Given the description of an element on the screen output the (x, y) to click on. 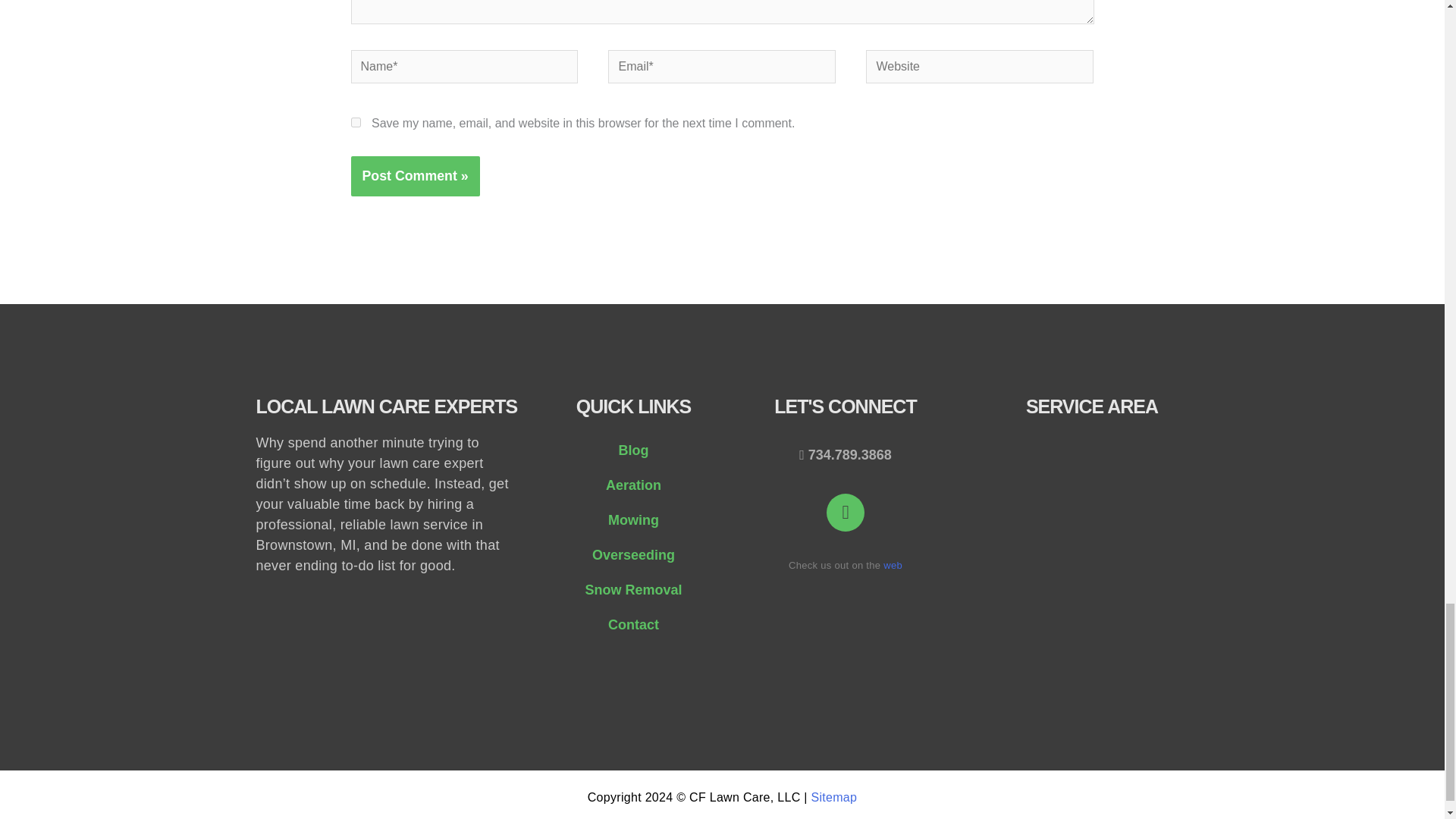
Blog (632, 450)
yes (354, 122)
Mowing (632, 519)
Snow Removal (632, 589)
Contact (632, 624)
Overseeding (632, 554)
Aeration (632, 484)
